Given the description of an element on the screen output the (x, y) to click on. 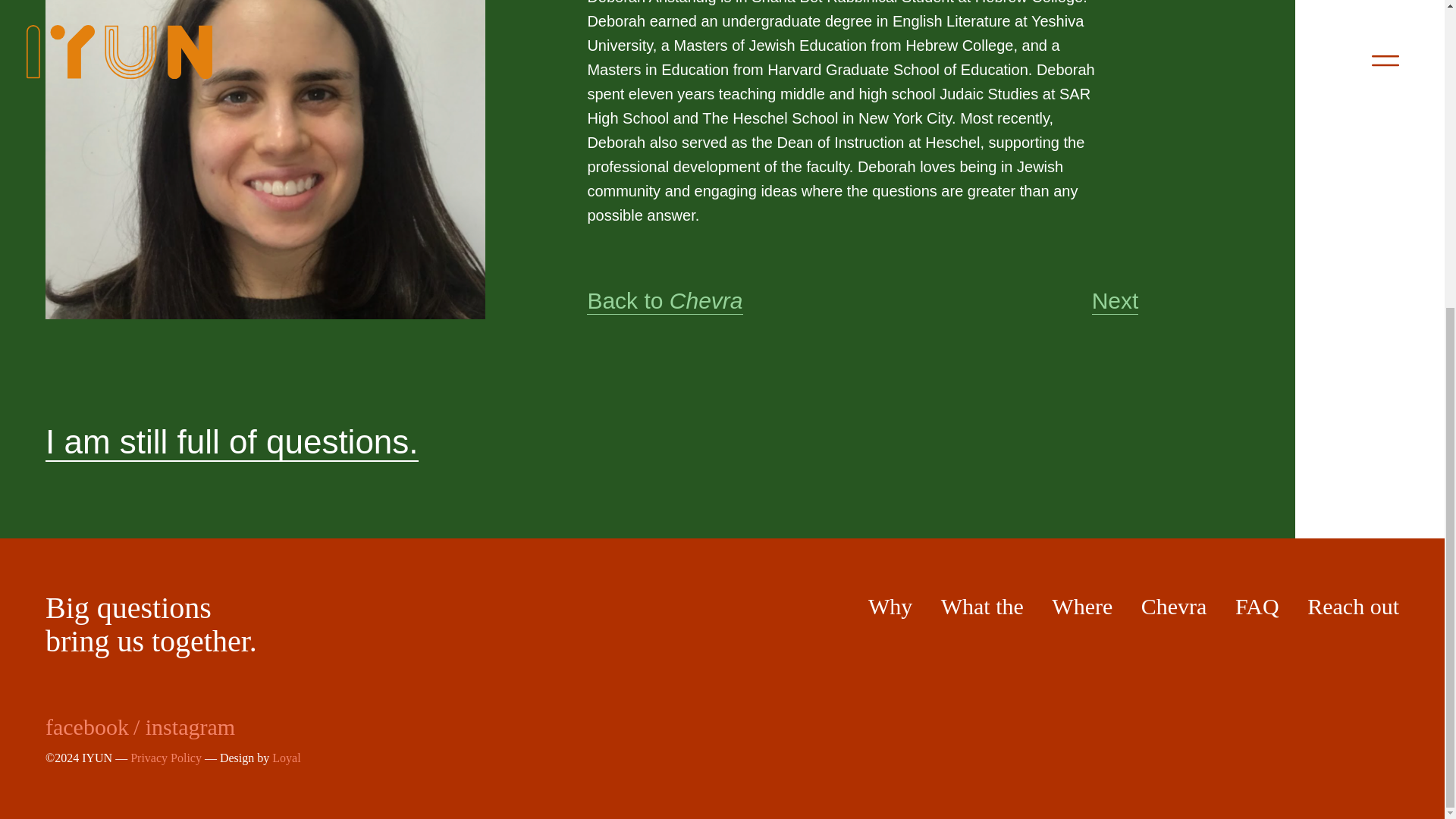
Chevra (1174, 606)
instagram (189, 726)
I am still full of questions. (232, 442)
What the (981, 606)
Where (1081, 606)
Next (1115, 301)
Privacy Policy (166, 757)
Reach out (1353, 606)
Loyal (285, 757)
Back to Chevra (664, 301)
facebook (87, 726)
Why (889, 606)
FAQ (1256, 606)
